Given the description of an element on the screen output the (x, y) to click on. 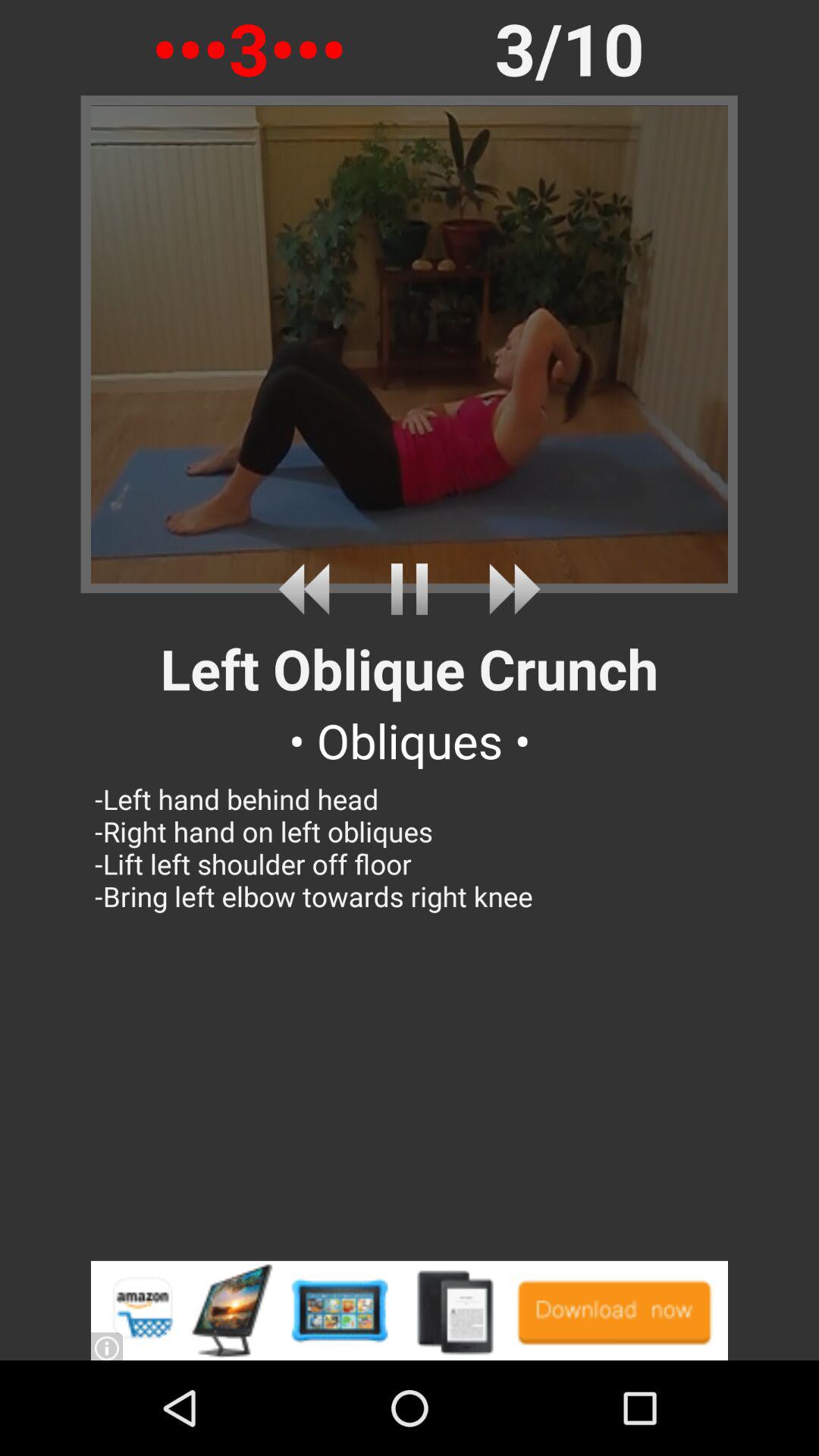
rewind (309, 589)
